Given the description of an element on the screen output the (x, y) to click on. 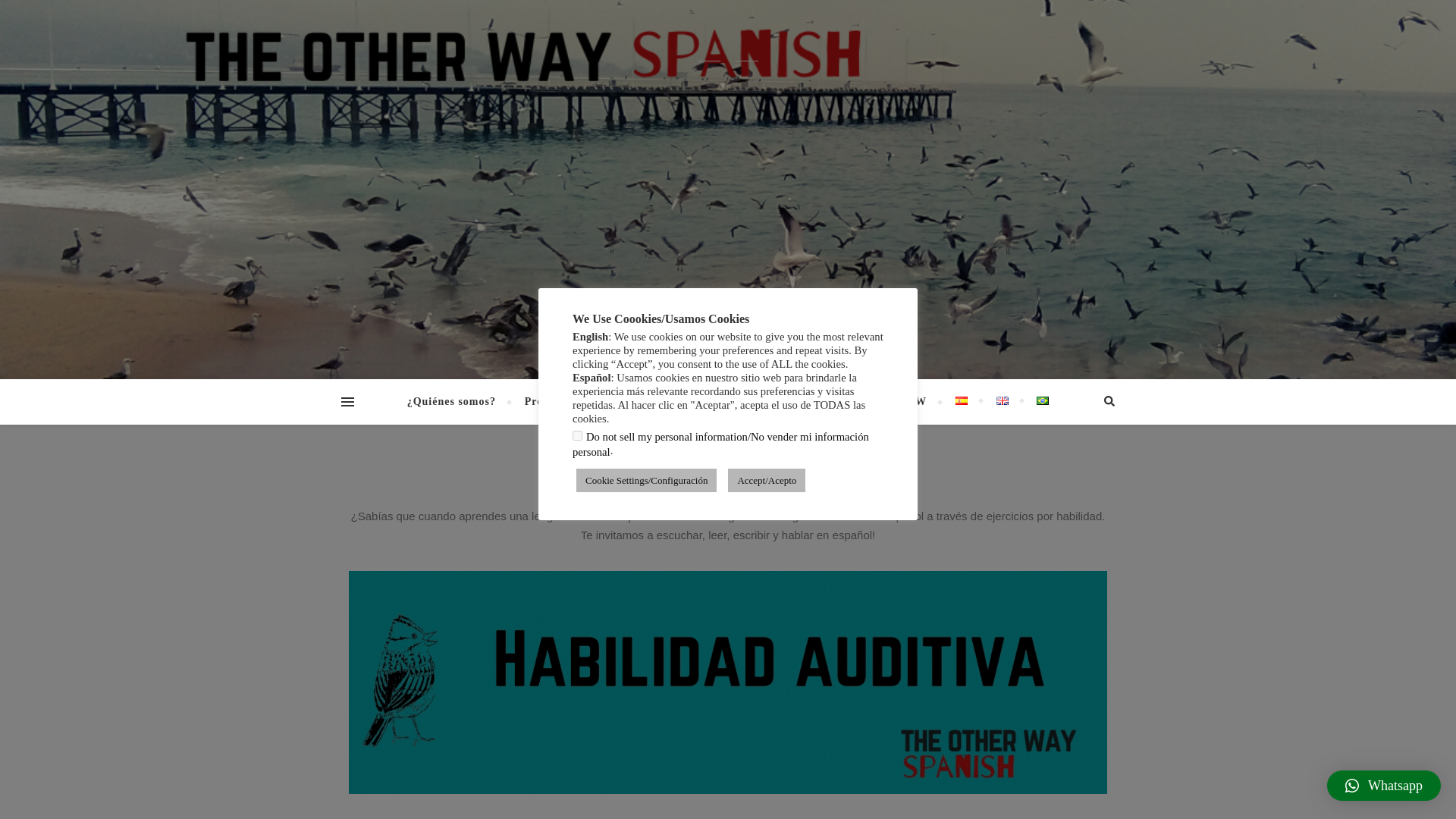
Programas y cursos (576, 402)
Ejercicios TOW (804, 402)
Podcasts TOW (694, 402)
on (577, 435)
AulaTOW (899, 402)
